Given the description of an element on the screen output the (x, y) to click on. 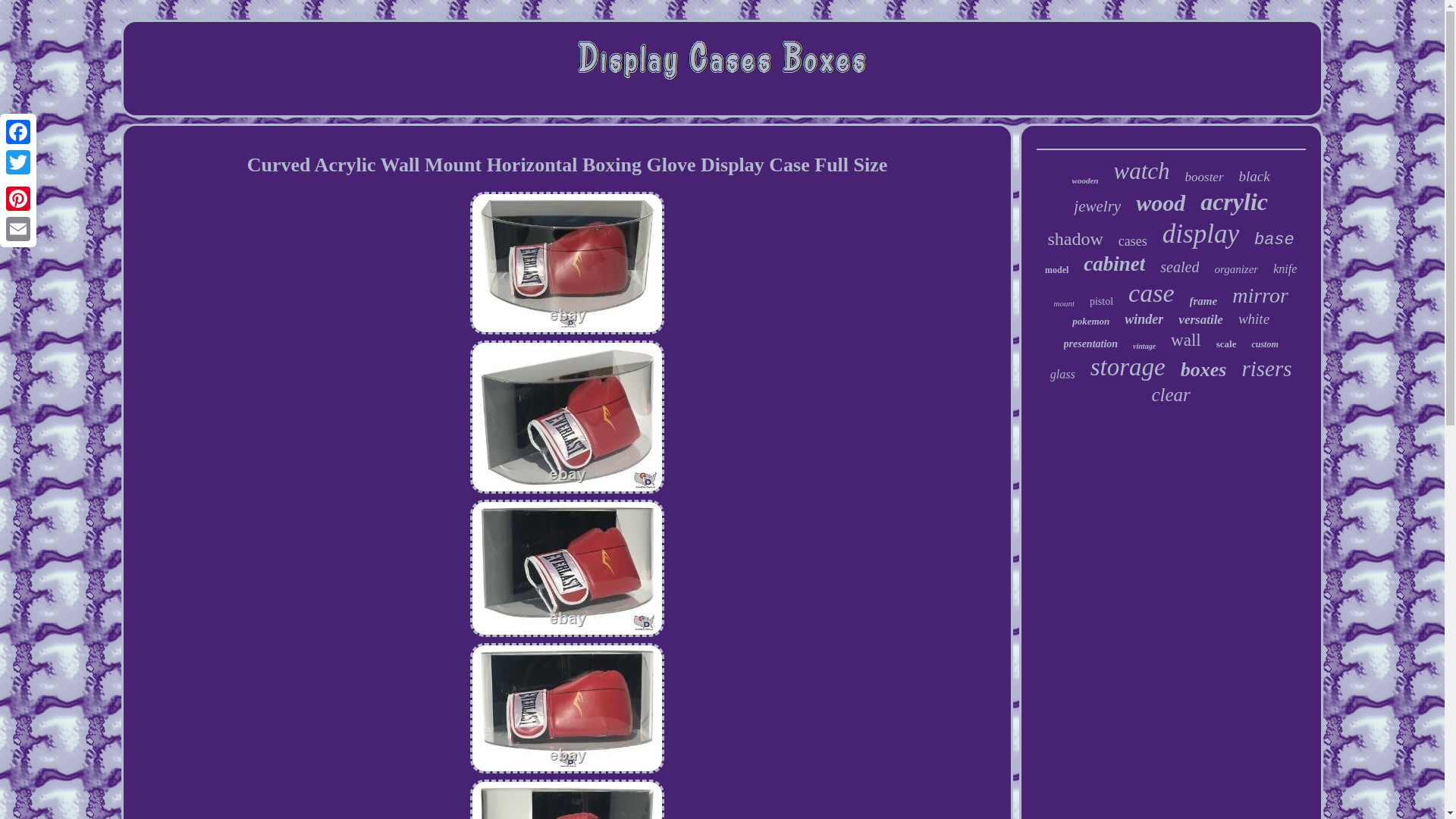
mirror (1259, 295)
white (1254, 319)
sealed (1179, 267)
vintage (1144, 346)
winder (1143, 319)
frame (1203, 300)
base (1273, 239)
jewelry (1097, 206)
acrylic (1233, 202)
wall (1185, 340)
mount (1063, 302)
presentation (1091, 344)
